Given the description of an element on the screen output the (x, y) to click on. 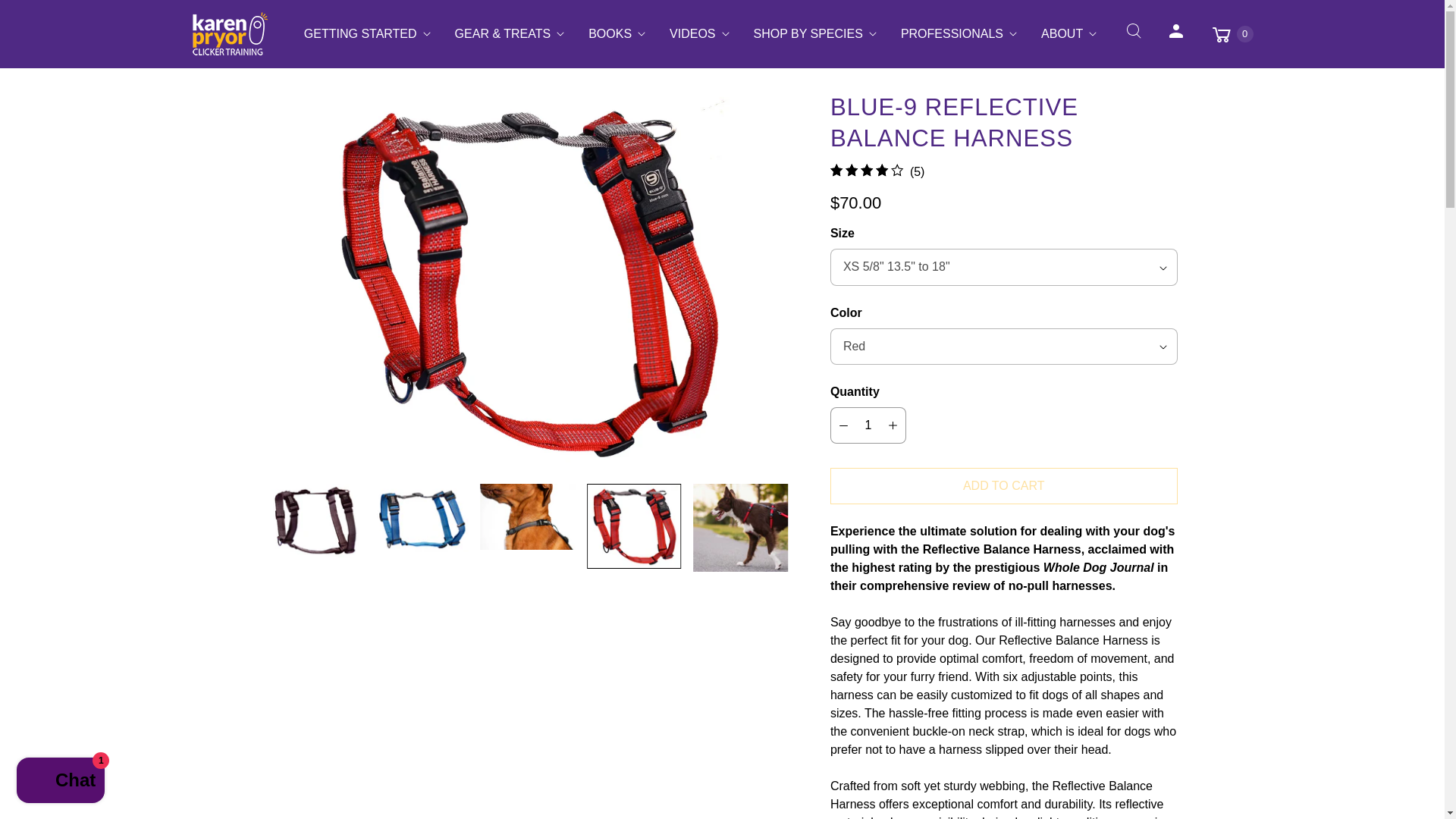
Shopify online store chat (60, 781)
